Given the description of an element on the screen output the (x, y) to click on. 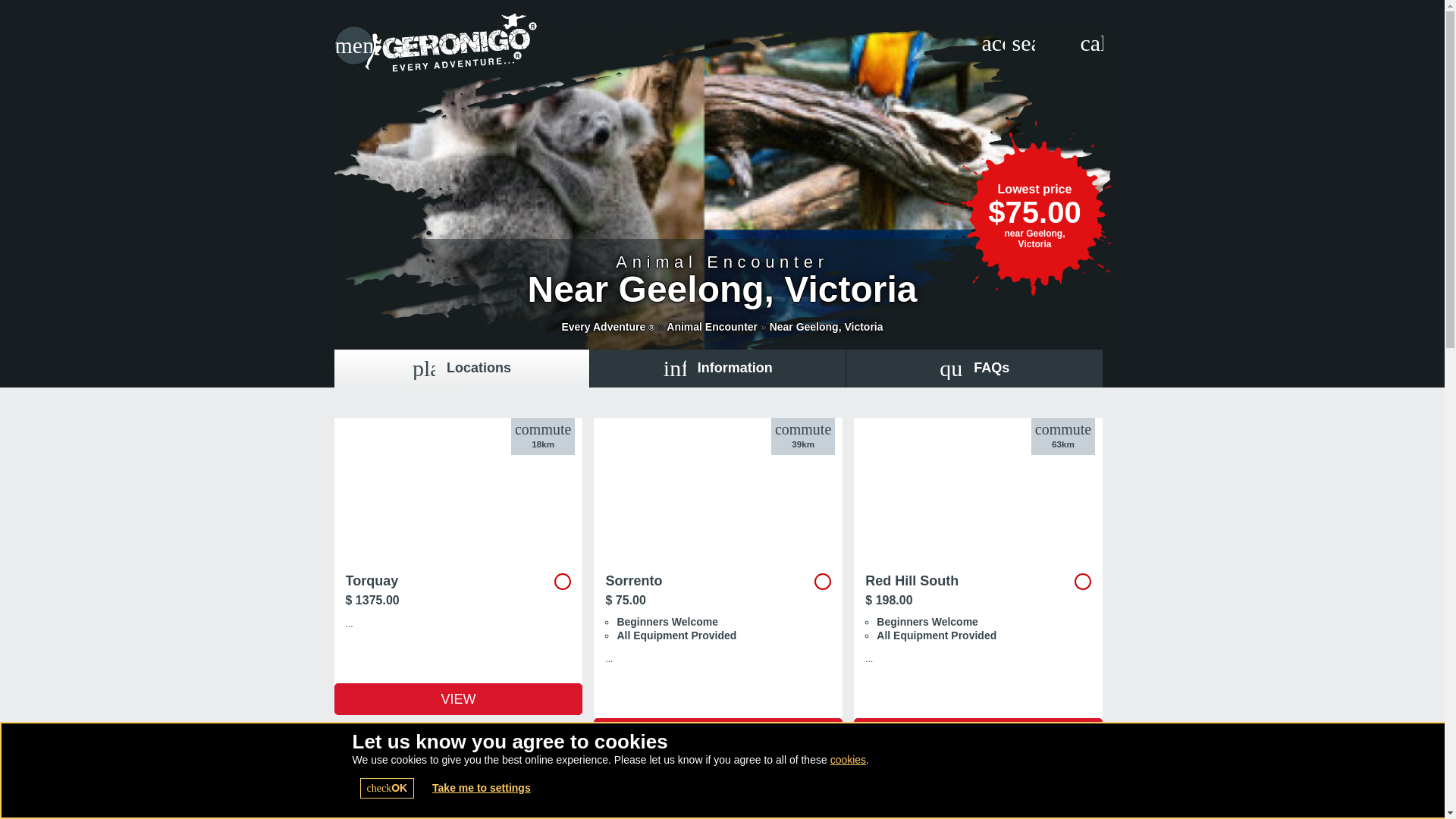
Torquay details, packages (457, 550)
Red Hill South details, packages (977, 734)
info Information (717, 368)
Contact Us (1091, 42)
Animal Encounter near Geelong, Victoria (352, 45)
Near Geelong, Victoria (826, 326)
VIEW (826, 326)
Animal Encounter (718, 734)
place Locations (711, 326)
VIEW (1022, 42)
homepage (461, 368)
Search (977, 734)
Sorrento details, packages (489, 45)
